Given the description of an element on the screen output the (x, y) to click on. 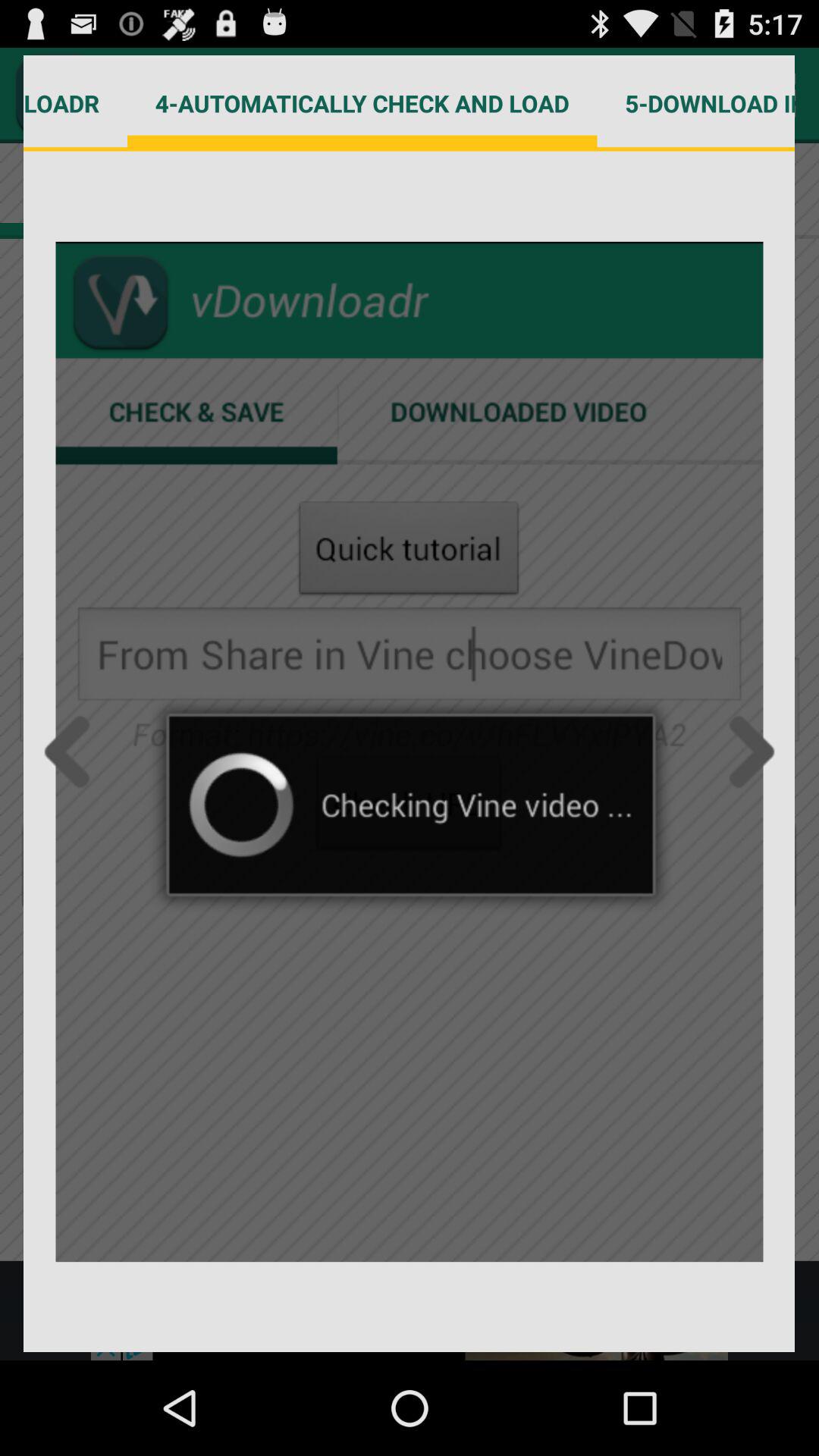
turn on icon to the left of the 5 download in app (362, 103)
